Given the description of an element on the screen output the (x, y) to click on. 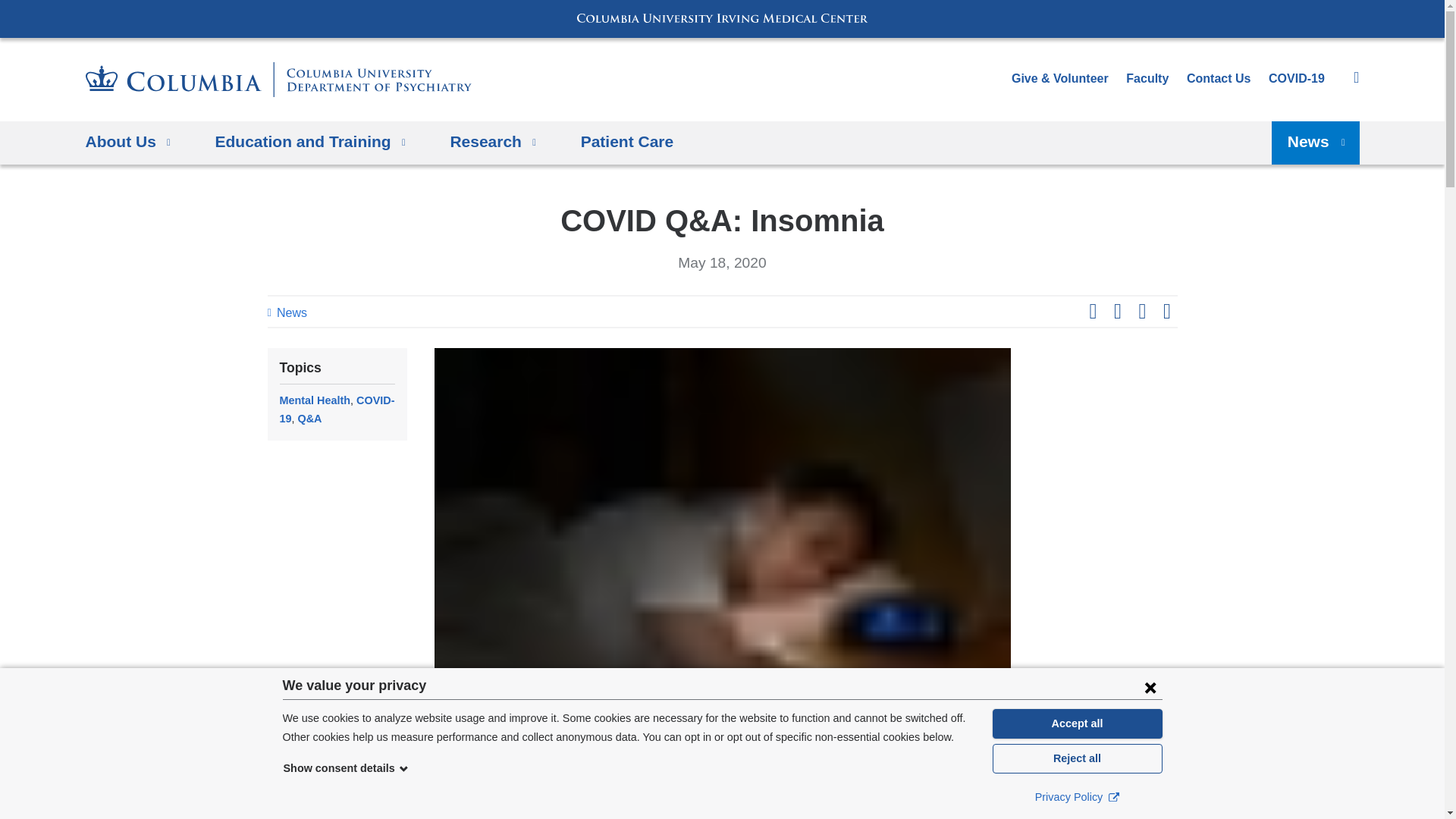
Education and Training (310, 142)
Columbia University Irving Medical Center (721, 17)
Home (277, 79)
About Us (127, 142)
Share this page through email. (1166, 311)
Privacy Policy External link Opens in a new window (1076, 796)
Contact Us (1218, 78)
Show consent details (346, 768)
Accept all (1076, 723)
Share this page on Facebook (1092, 311)
Faculty (1147, 78)
Reject all (1076, 758)
External link Opens in a new window (1113, 796)
COVID-19 (1296, 78)
